Given the description of an element on the screen output the (x, y) to click on. 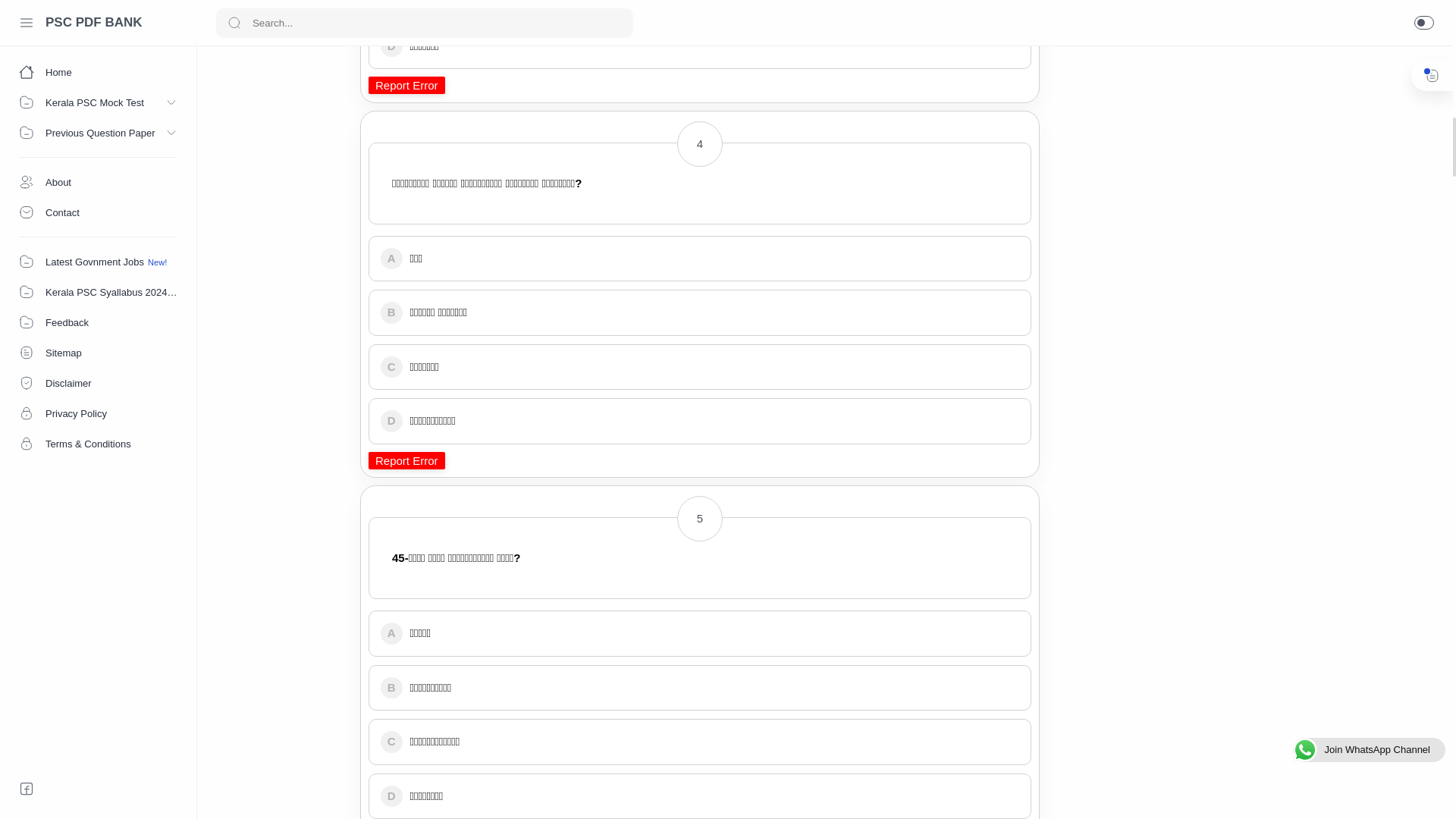
Report Error (406, 85)
Report Error (406, 460)
